Given the description of an element on the screen output the (x, y) to click on. 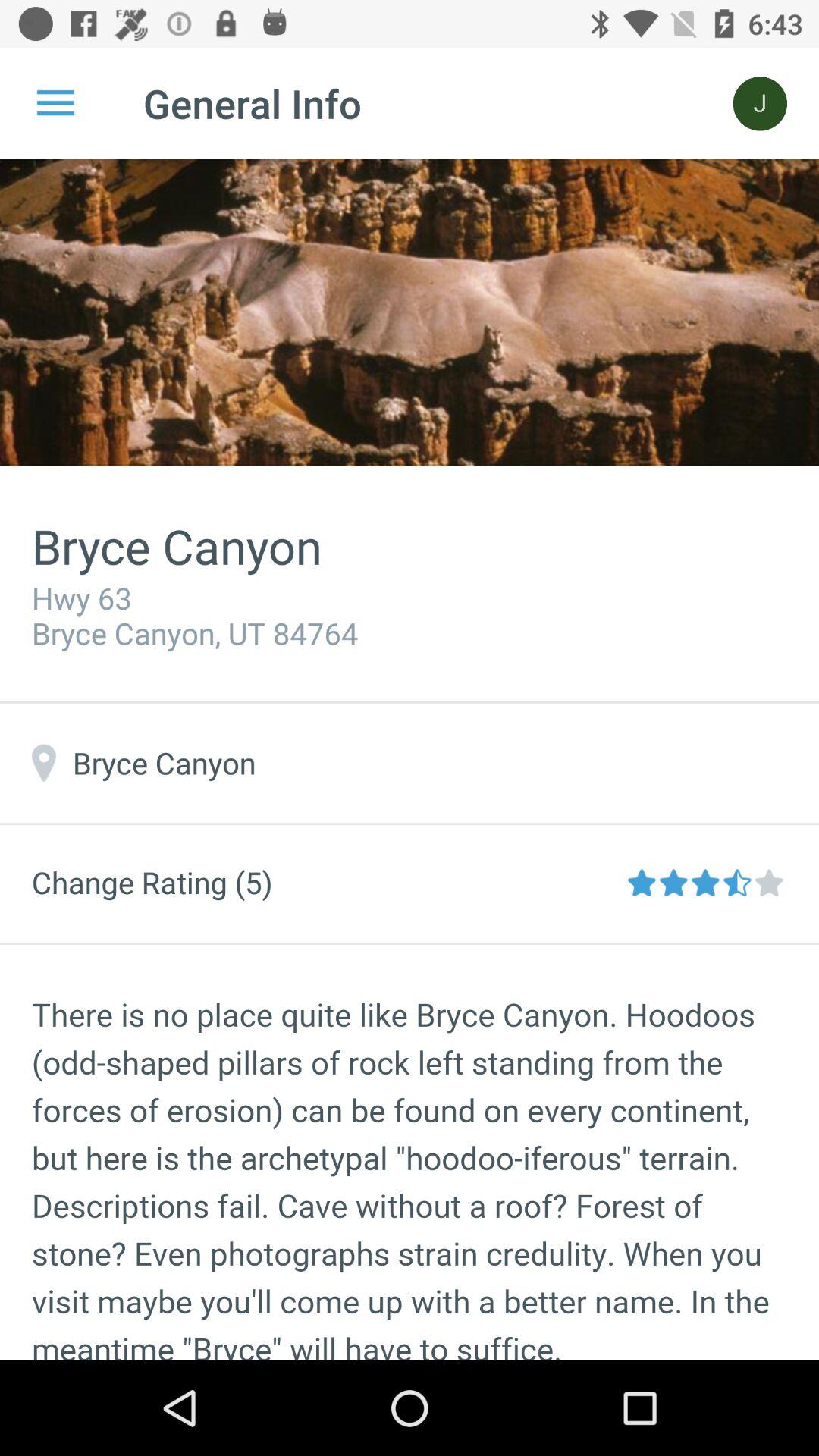
click the item at the top right corner (760, 103)
